Given the description of an element on the screen output the (x, y) to click on. 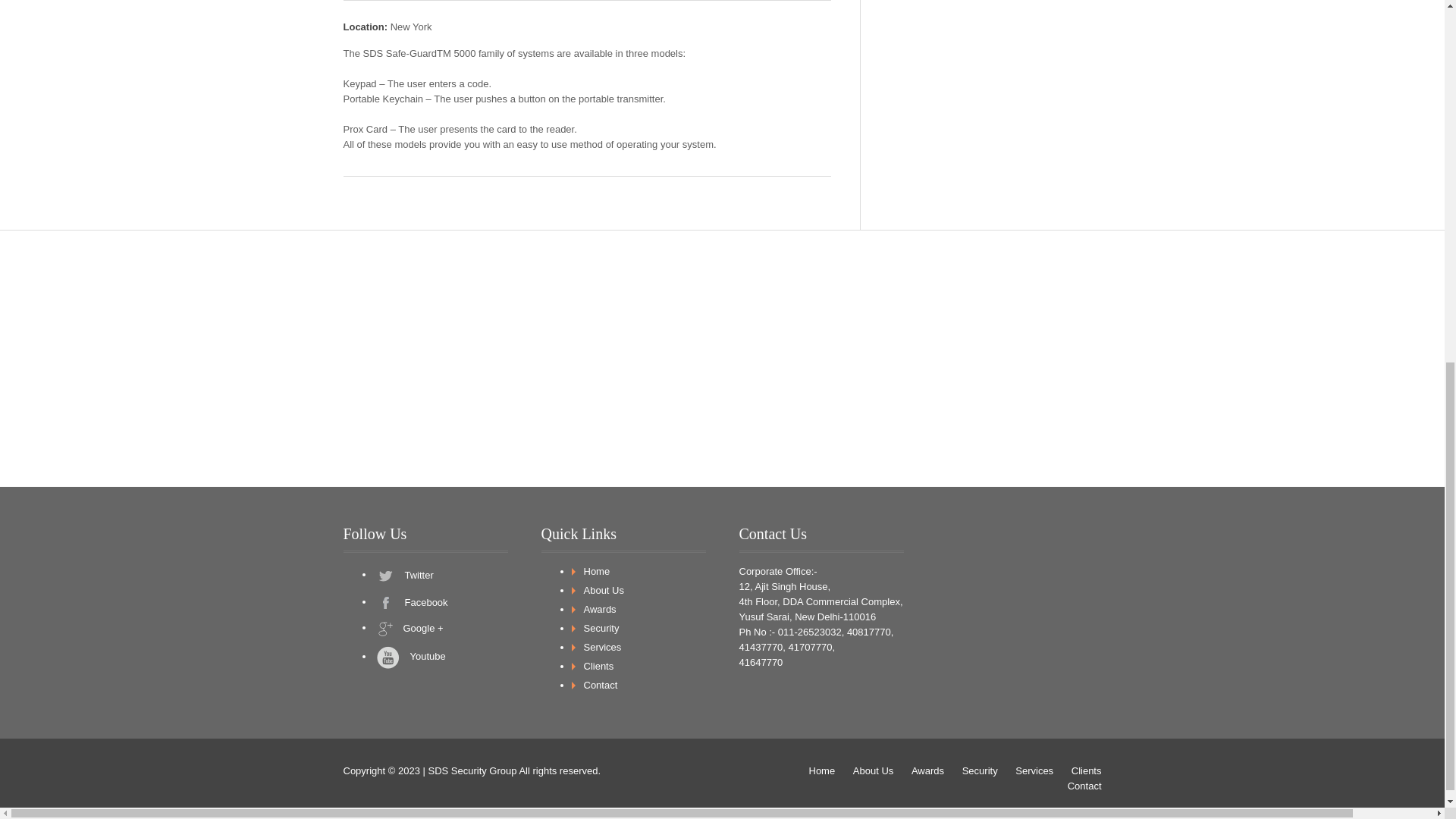
Youtube (439, 656)
Facebook (439, 603)
Awards (599, 609)
Home (821, 769)
Home (596, 571)
Awards (927, 769)
Security (601, 627)
Security (979, 769)
About Us (873, 769)
Clients (598, 665)
Services (602, 646)
Twitter (439, 576)
Contact (600, 685)
About Us (603, 589)
